Given the description of an element on the screen output the (x, y) to click on. 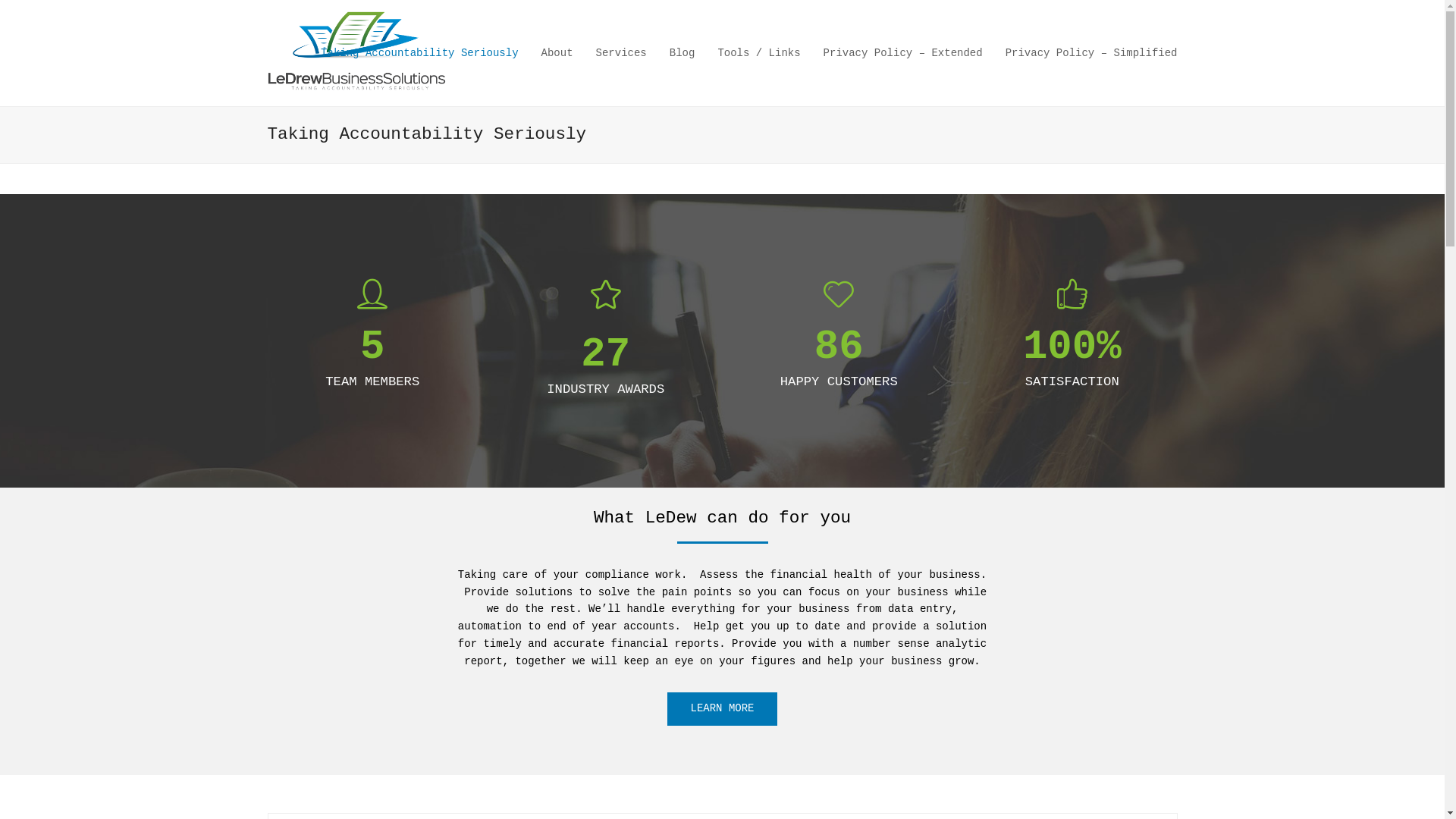
About Element type: text (557, 53)
LEARN MORE Element type: text (721, 708)
Tools / Links Element type: text (758, 53)
Services Element type: text (621, 53)
Blog Element type: text (682, 53)
Taking Accountability Seriously Element type: text (419, 53)
